Given the description of an element on the screen output the (x, y) to click on. 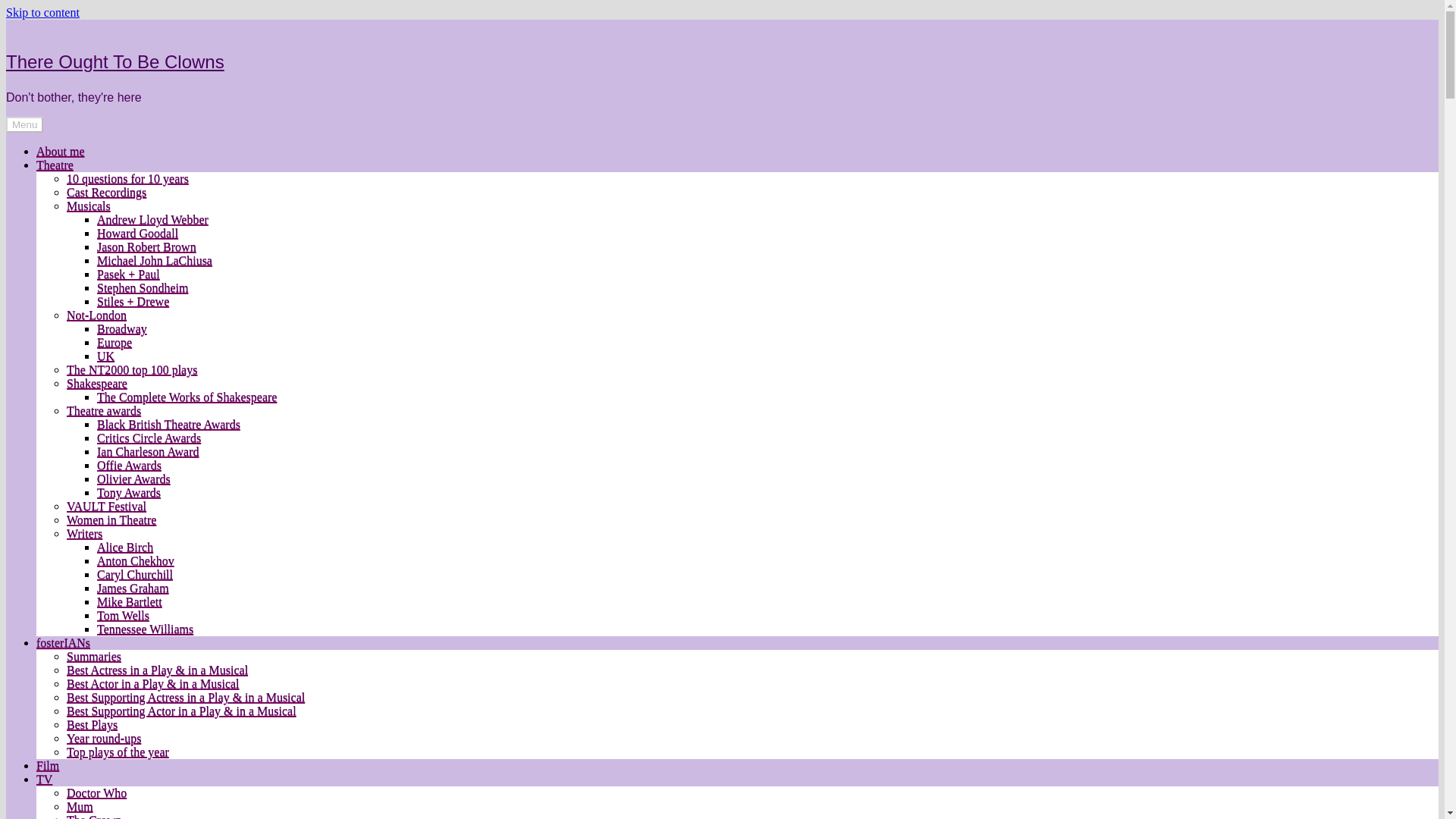
Shakespeare (97, 382)
Menu (24, 124)
There Ought To Be Clowns (114, 61)
Cast Recordings (106, 192)
VAULT Festival (106, 505)
Musicals (88, 205)
Critics Circle Awards (148, 437)
James Graham (132, 587)
Tony Awards (128, 492)
Tom Wells (123, 615)
Tennessee Williams (145, 628)
Writers (83, 533)
Stephen Sondheim (142, 287)
Offie Awards (129, 464)
The NT2000 top 100 plays (131, 369)
